Given the description of an element on the screen output the (x, y) to click on. 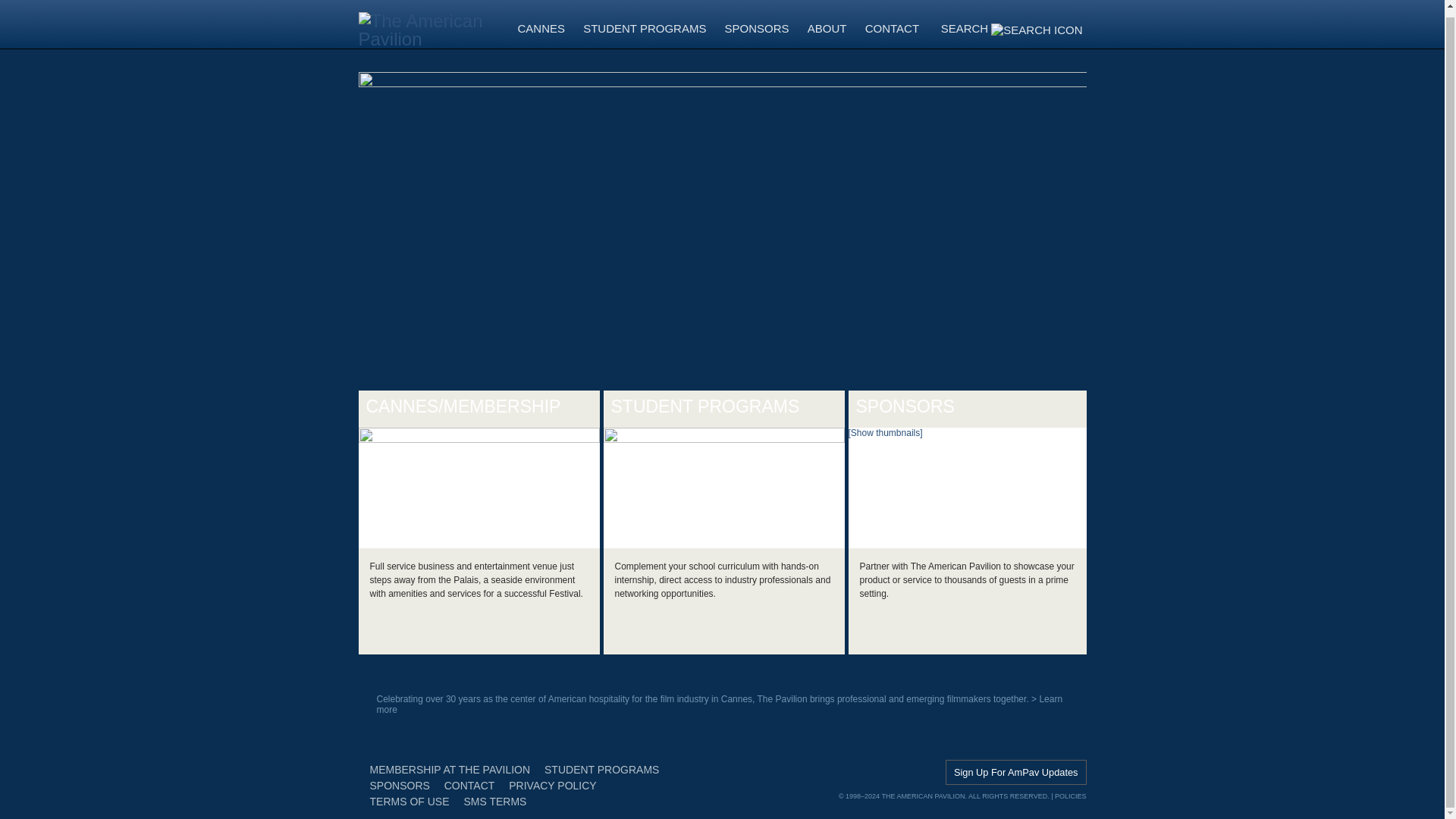
MEMBERSHIP AT THE PAVILION (450, 769)
ABOUT (826, 32)
CANNES (540, 32)
The American Pavilion (433, 24)
STUDENT PROGRAMS (644, 32)
SPONSORS (756, 32)
CONTACT (891, 32)
